Given the description of an element on the screen output the (x, y) to click on. 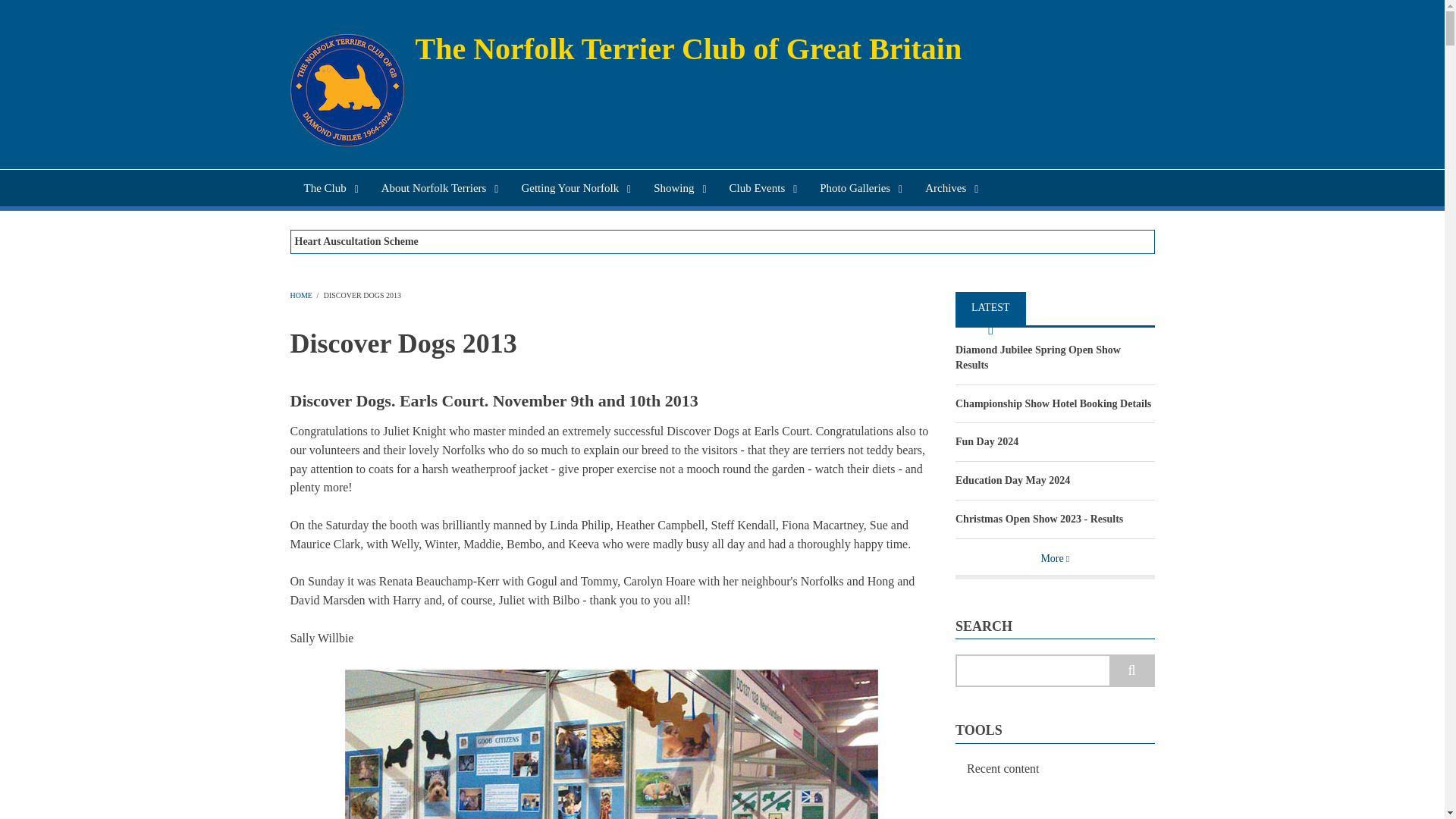
The Club (327, 187)
Search (1131, 670)
About Norfolk Terriers (438, 187)
Home (688, 48)
About Norfolk Terriers (438, 187)
The Norfolk Terrier Club of Great Britain (688, 48)
Home (346, 88)
Search (1131, 670)
The Norfolk Terrier Club of Great Britain (327, 187)
